Given the description of an element on the screen output the (x, y) to click on. 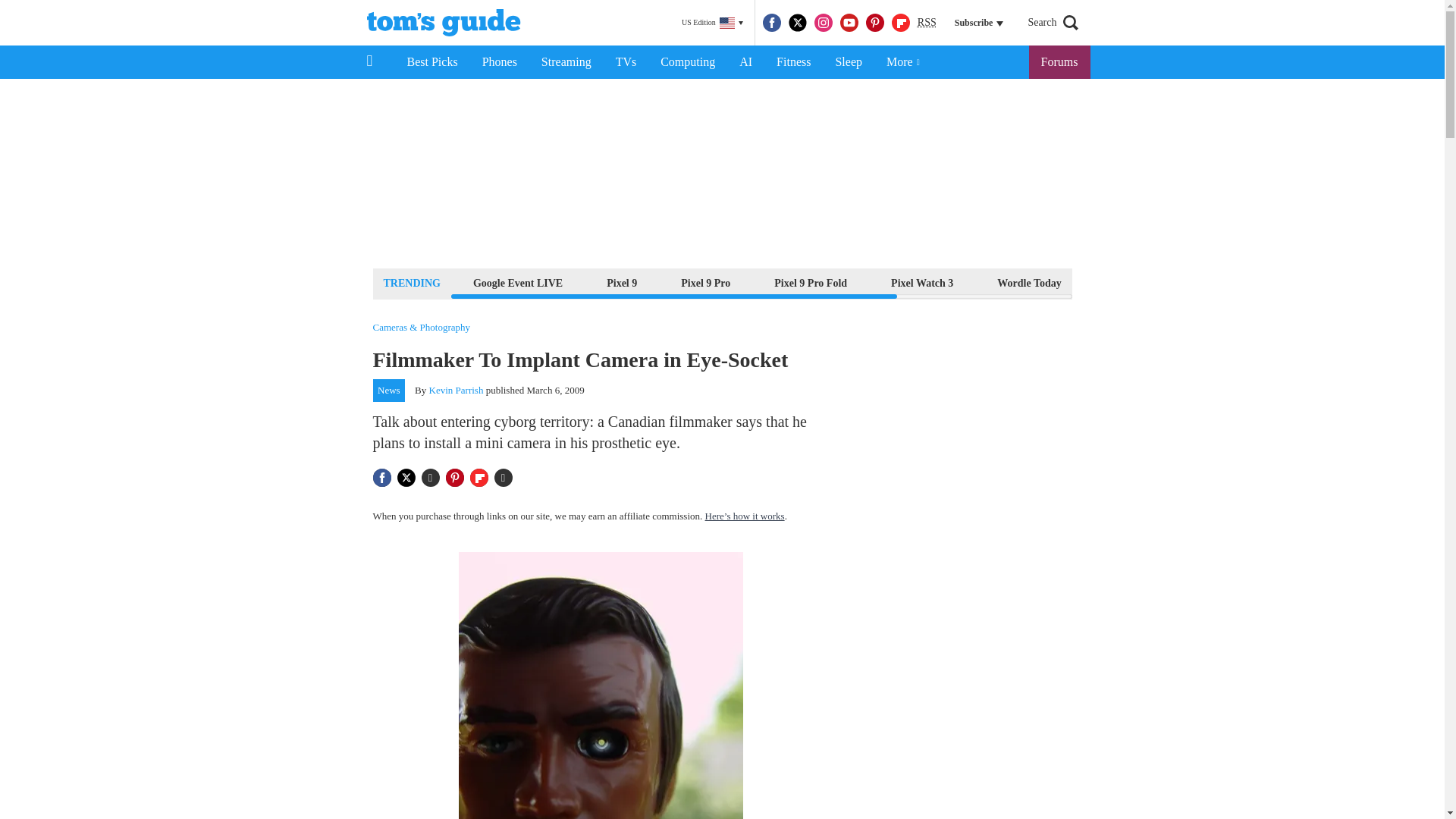
Streaming (566, 61)
Phones (499, 61)
AI (745, 61)
RSS (926, 22)
Fitness (793, 61)
TVs (626, 61)
Really Simple Syndication (926, 21)
Sleep (848, 61)
Best Picks (431, 61)
Computing (686, 61)
